Given the description of an element on the screen output the (x, y) to click on. 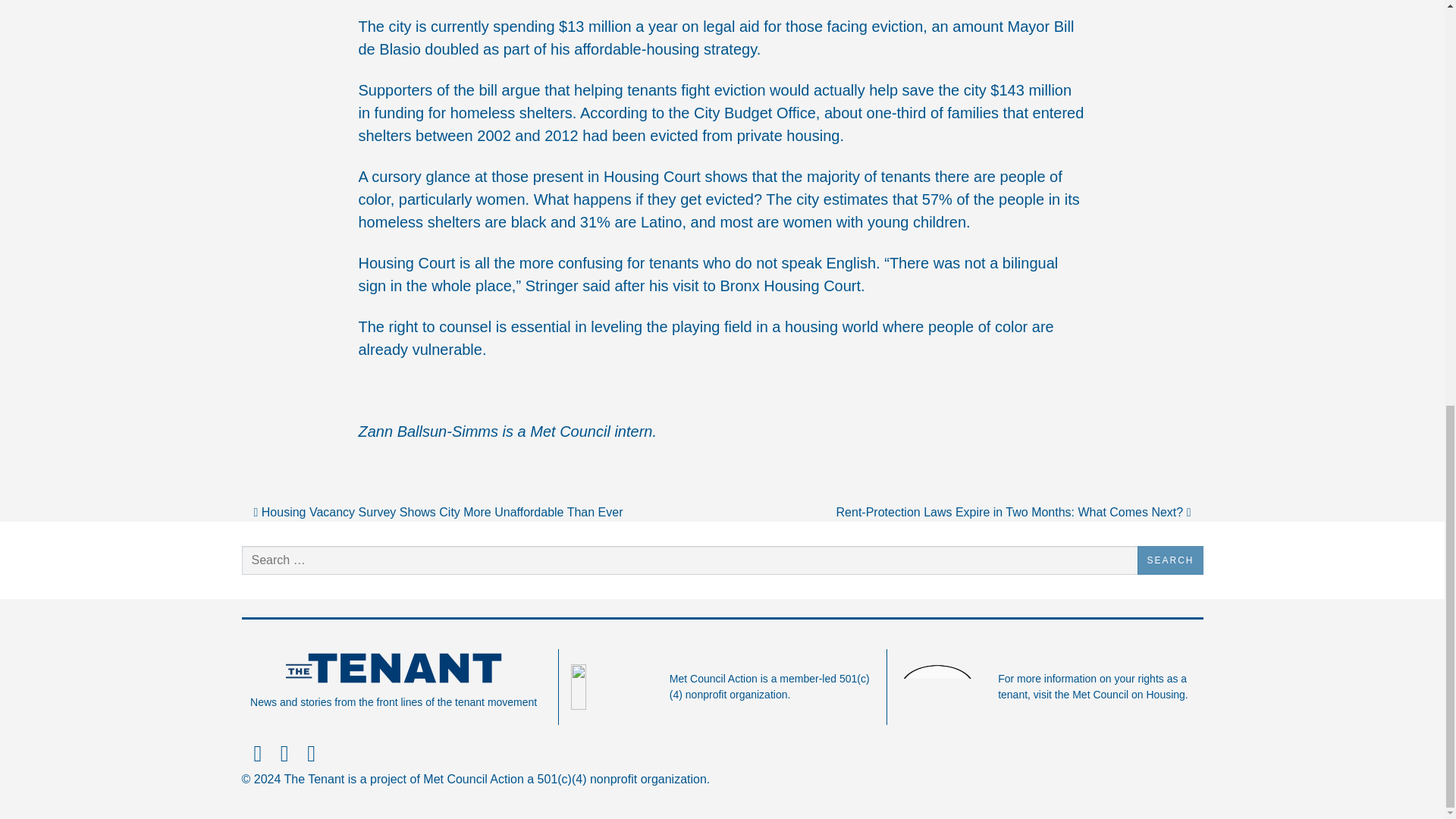
Search (1169, 560)
Rent-Protection Laws Expire in Two Months: What Comes Next?  (1013, 512)
Search (1169, 560)
Search (1169, 560)
